Given the description of an element on the screen output the (x, y) to click on. 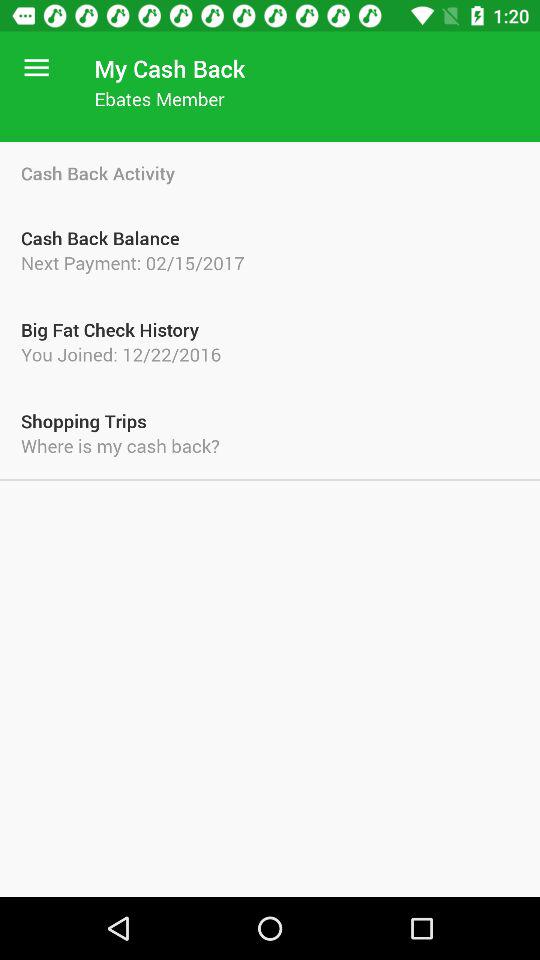
choose item next to the my cash back (36, 68)
